Given the description of an element on the screen output the (x, y) to click on. 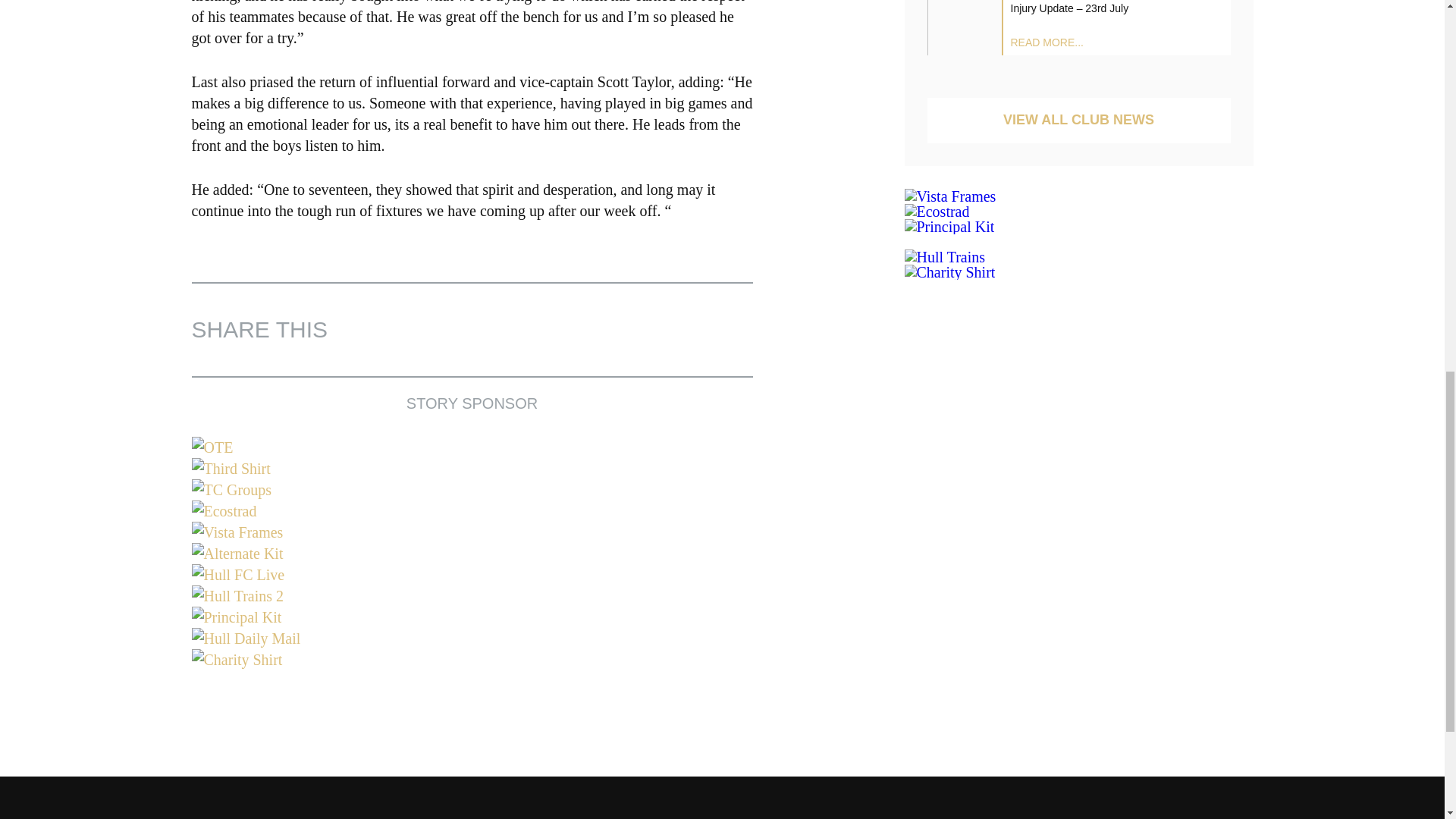
TC Groups (471, 489)
Principal Kit (471, 617)
Hull Trains 2 (471, 595)
Hull FC Live (471, 574)
Third Shirt (471, 468)
Charity Shirt (471, 659)
Alternate Kit (471, 553)
Hull Daily Mail (471, 638)
Vista Frames (471, 531)
Ecostrad (471, 510)
OTE (471, 446)
